Given the description of an element on the screen output the (x, y) to click on. 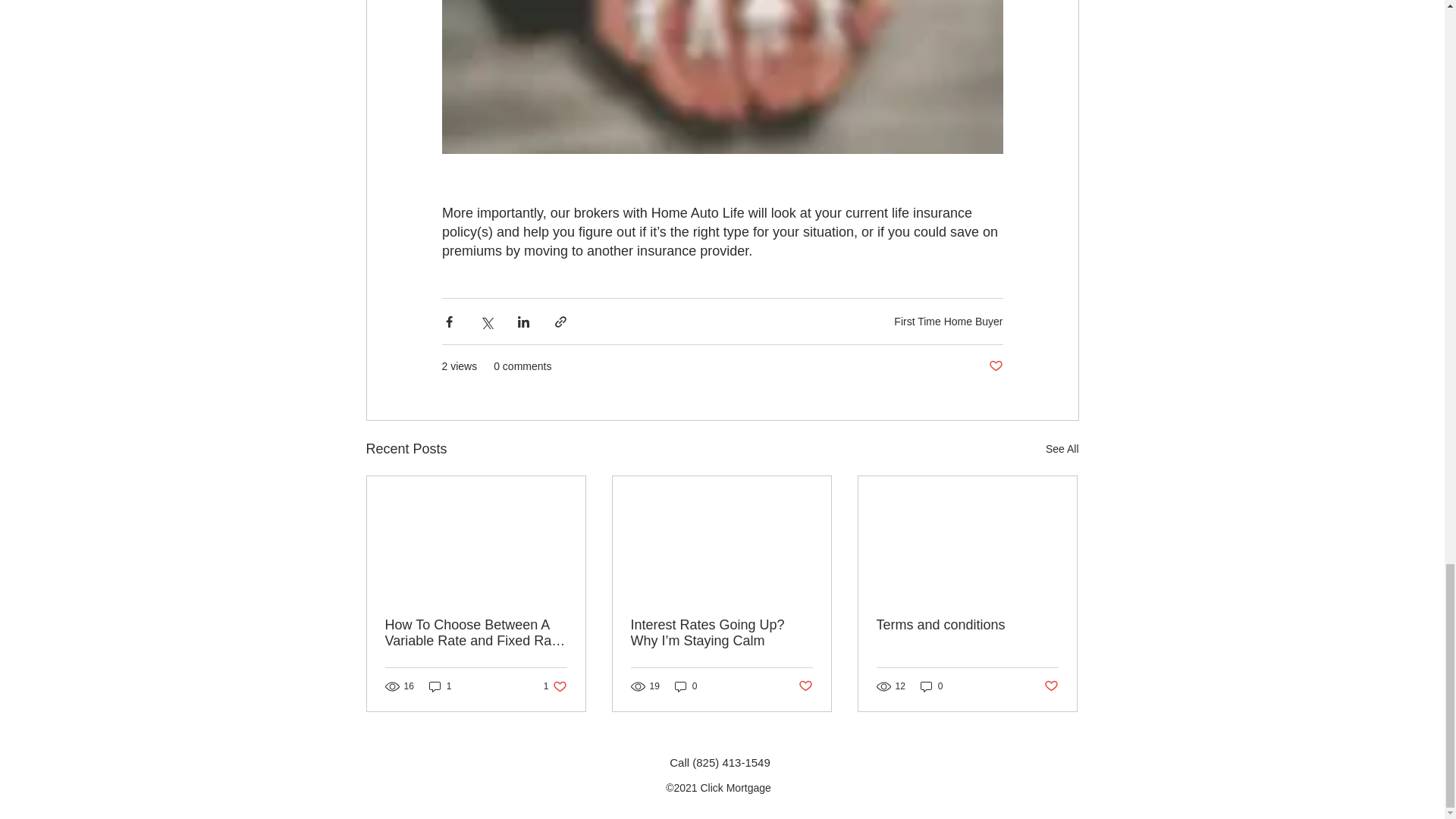
See All (1061, 449)
Post not marked as liked (995, 366)
First Time Home Buyer (948, 321)
